Given the description of an element on the screen output the (x, y) to click on. 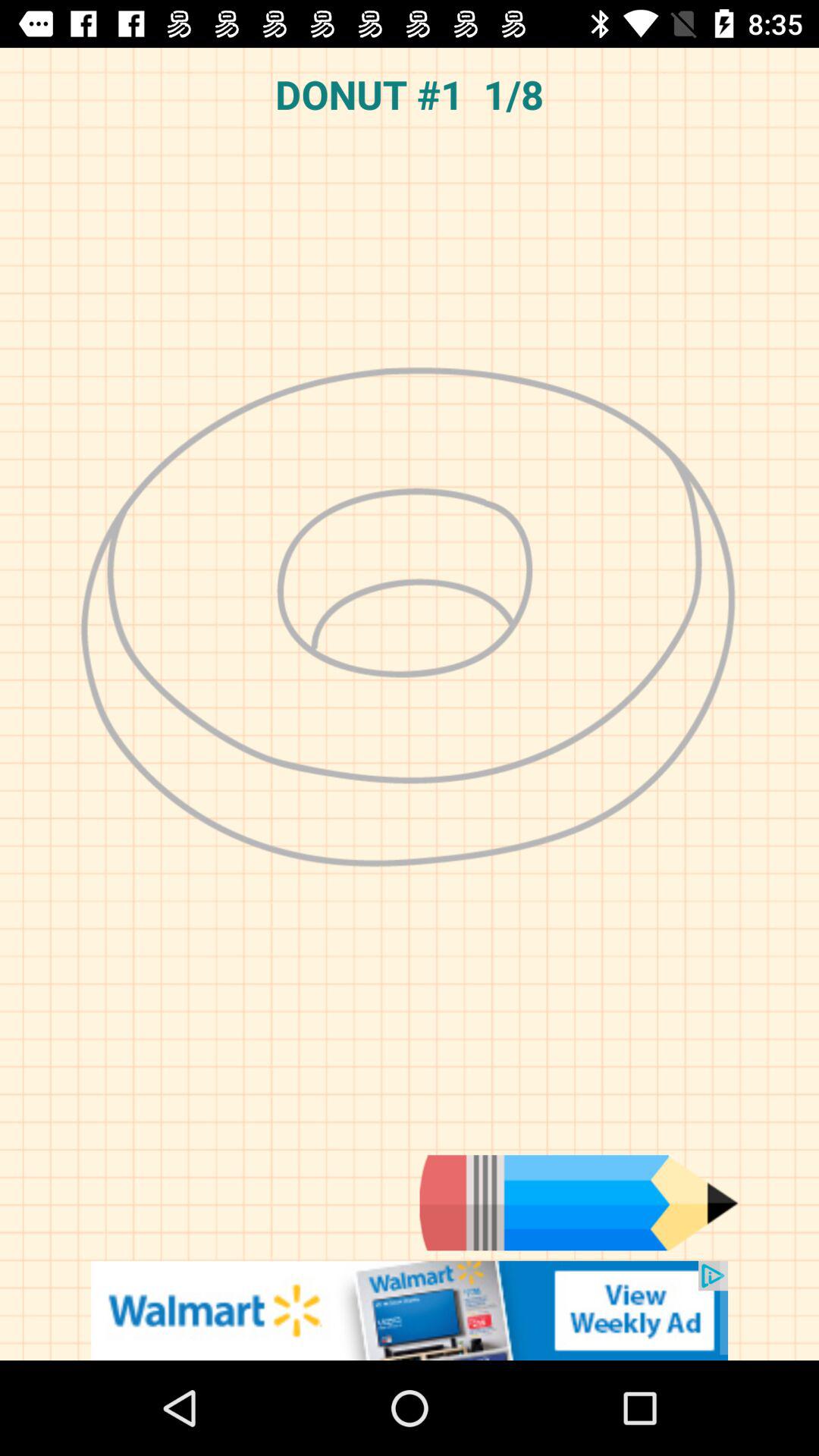
link to advertisement (409, 1310)
